Given the description of an element on the screen output the (x, y) to click on. 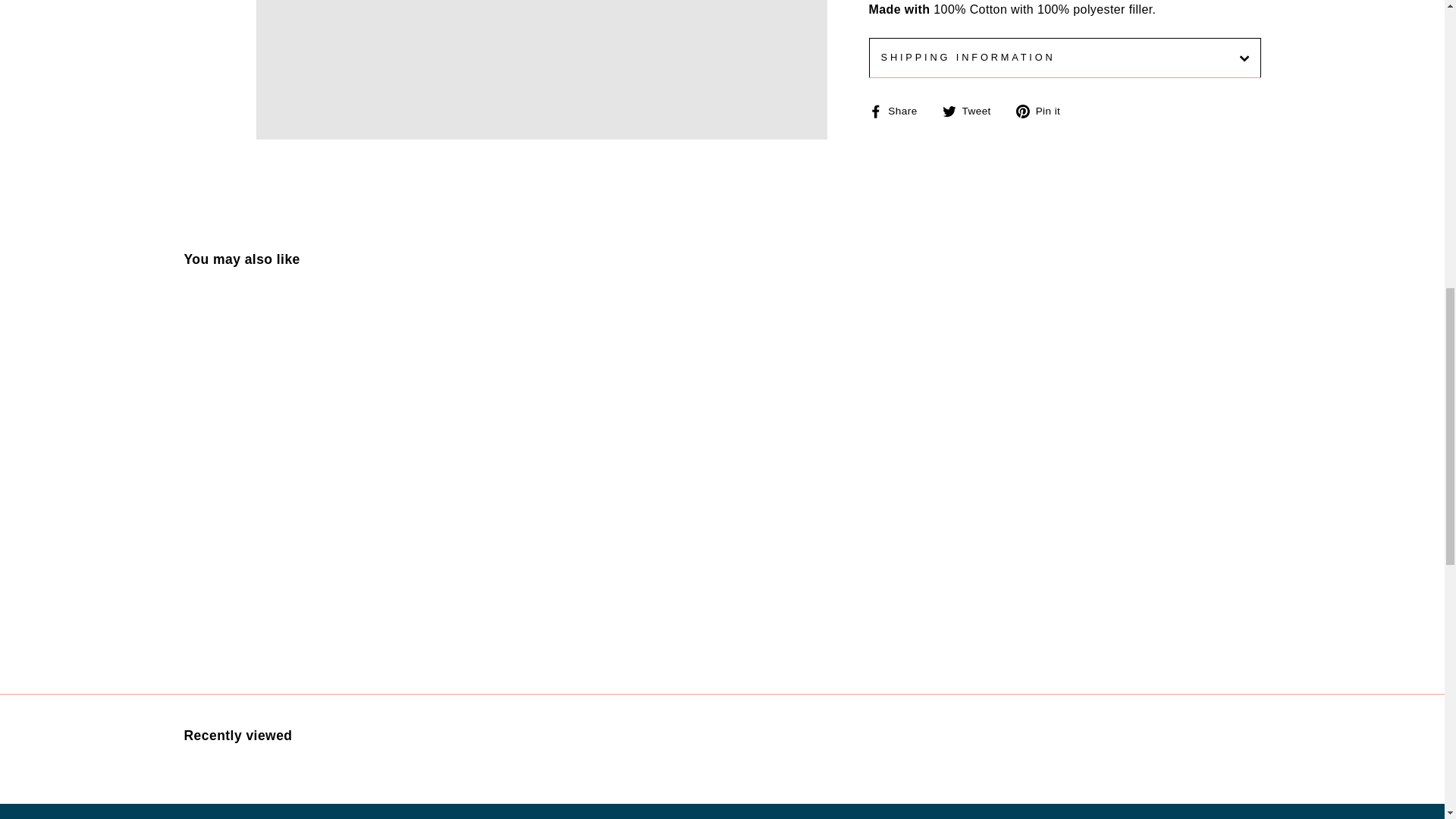
Tweet on Twitter (972, 110)
Share on Facebook (898, 110)
Pin on Pinterest (1043, 110)
